Given the description of an element on the screen output the (x, y) to click on. 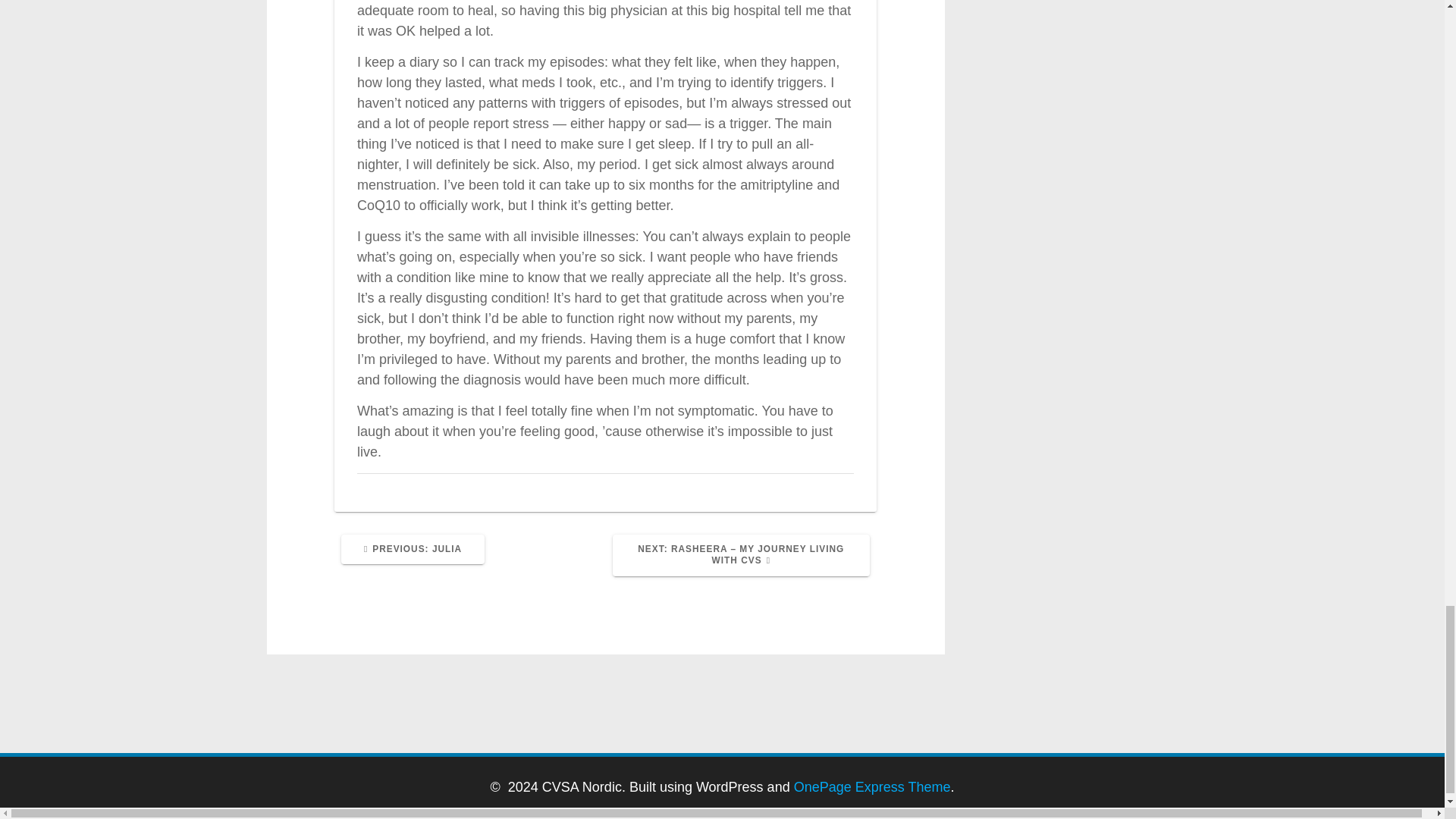
OnePage Express Theme (412, 549)
